Given the description of an element on the screen output the (x, y) to click on. 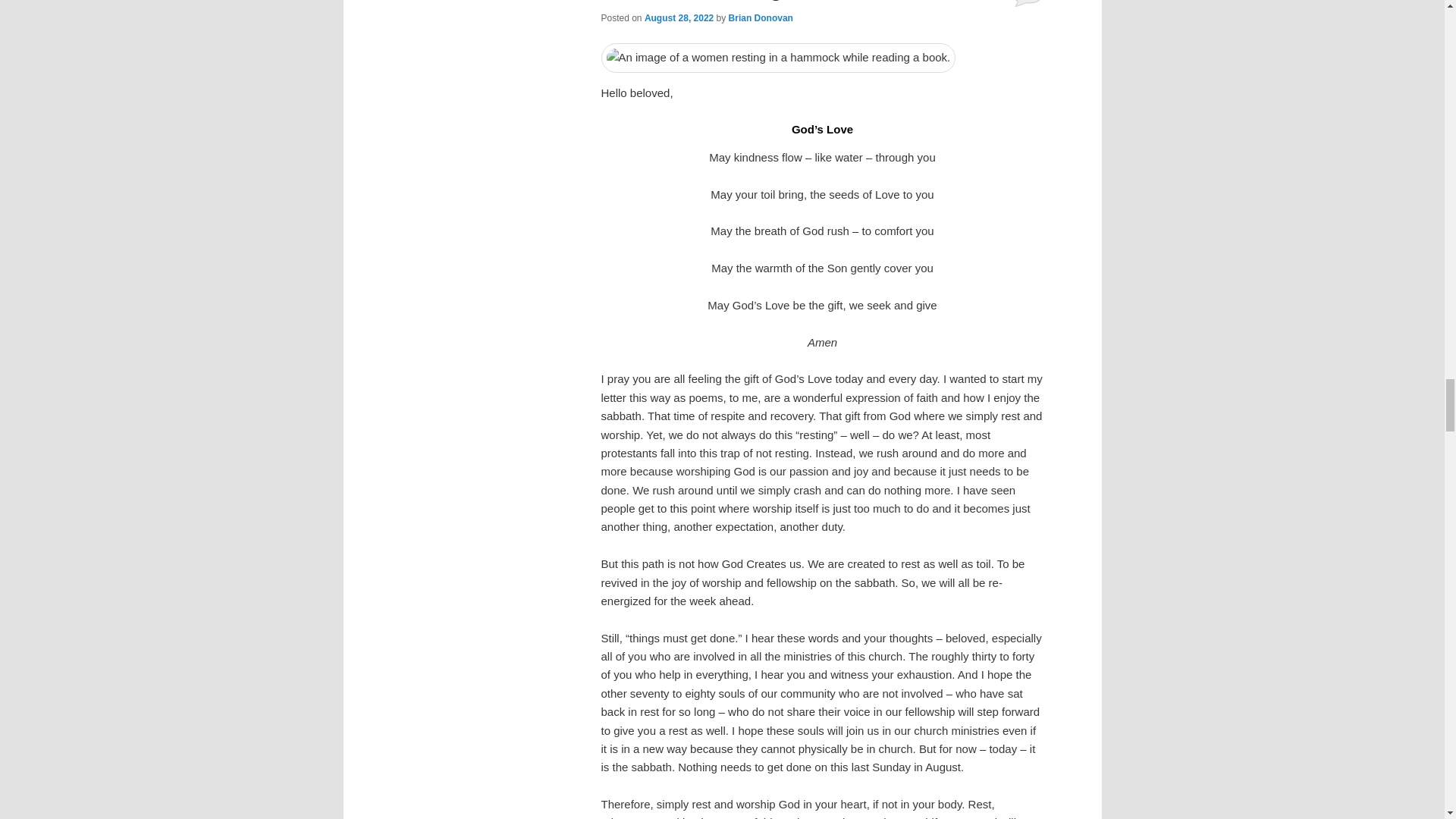
View all posts by Brian Donovan (761, 18)
9:00 am (679, 18)
